Given the description of an element on the screen output the (x, y) to click on. 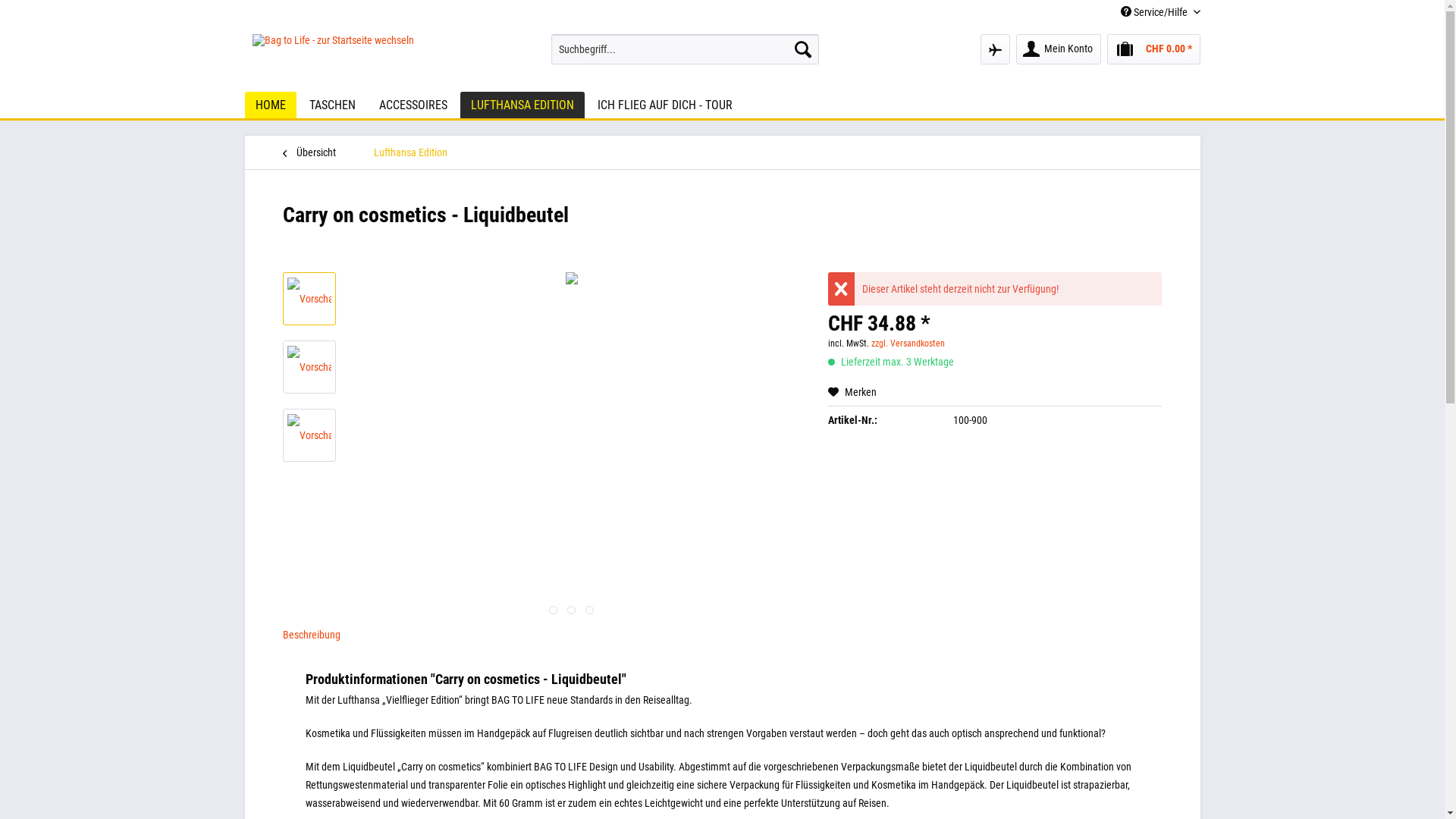
Vorschau: Carry on cosmetics - Liquidbeutel Element type: hover (308, 366)
LUFTHANSA EDITION Element type: text (521, 104)
Lufthansa Edition Element type: text (409, 152)
Vorschau: Carry on cosmetics - Liquidbeutel Element type: hover (308, 434)
  Element type: text (571, 609)
Vorschau: Carry on cosmetics - Liquidbeutel Element type: hover (308, 298)
  Element type: text (553, 609)
TASCHEN Element type: text (332, 104)
HOME Element type: text (269, 104)
ICH FLIEG AUF DICH - TOUR Element type: text (664, 104)
Merken Element type: text (852, 391)
Merkzettel Element type: hover (994, 49)
Bag to Life - zur Startseite wechseln Element type: hover (332, 59)
Vorschau: Carry on cosmetics - Liquidbeutel Element type: hover (308, 435)
Vorschau: Carry on cosmetics - Liquidbeutel Element type: hover (308, 367)
Mein Konto Element type: text (1058, 49)
CHF 0.00 * Element type: text (1153, 49)
  Element type: text (589, 609)
ACCESSOIRES Element type: text (413, 104)
zzgl. Versandkosten Element type: text (907, 343)
Vorschau: Carry on cosmetics - Liquidbeutel Element type: hover (308, 298)
Beschreibung Element type: text (310, 634)
